Given the description of an element on the screen output the (x, y) to click on. 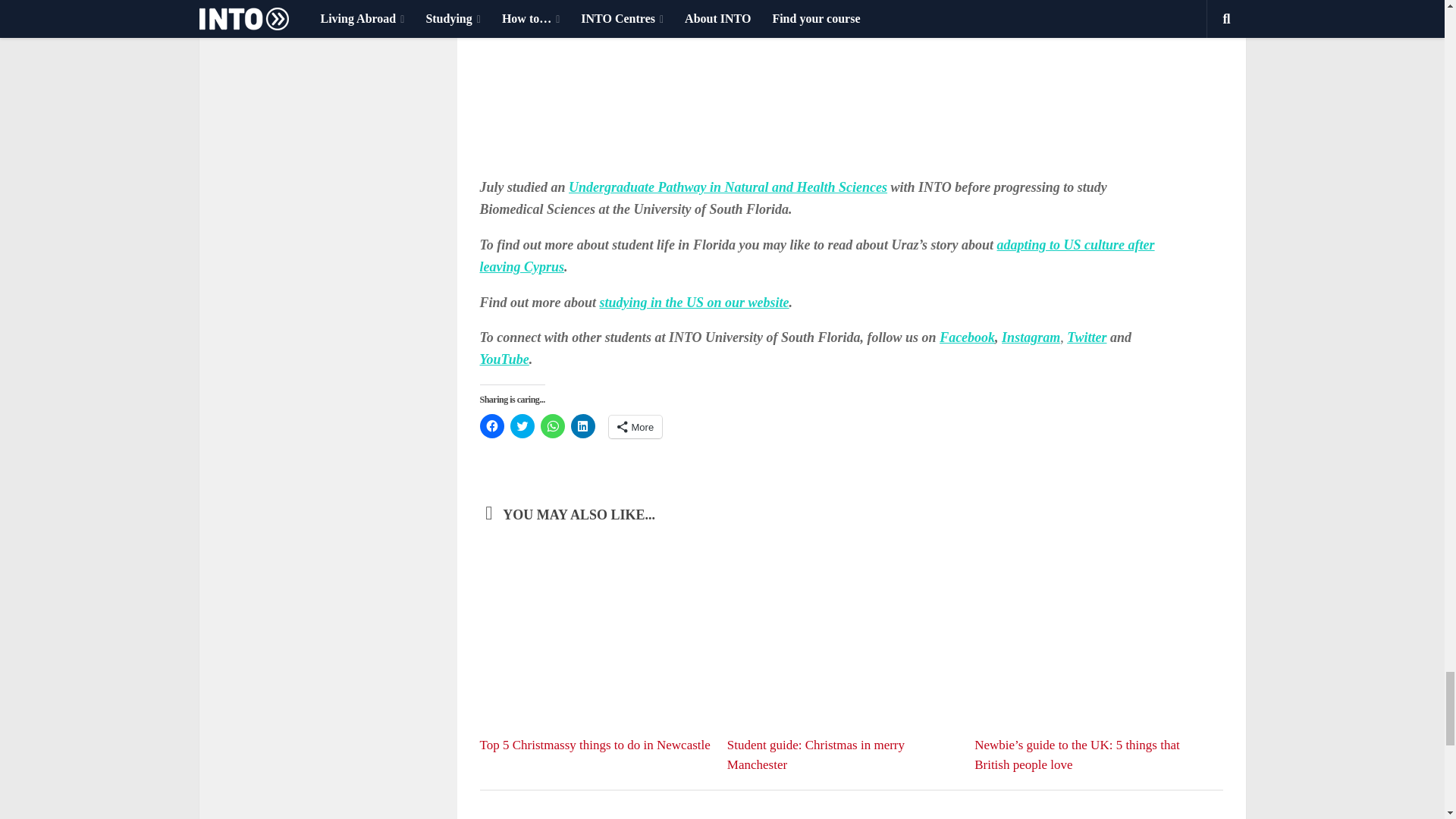
Click to share on WhatsApp (552, 426)
Click to share on Twitter (521, 426)
Click to share on Facebook (491, 426)
Click to share on LinkedIn (582, 426)
